Given the description of an element on the screen output the (x, y) to click on. 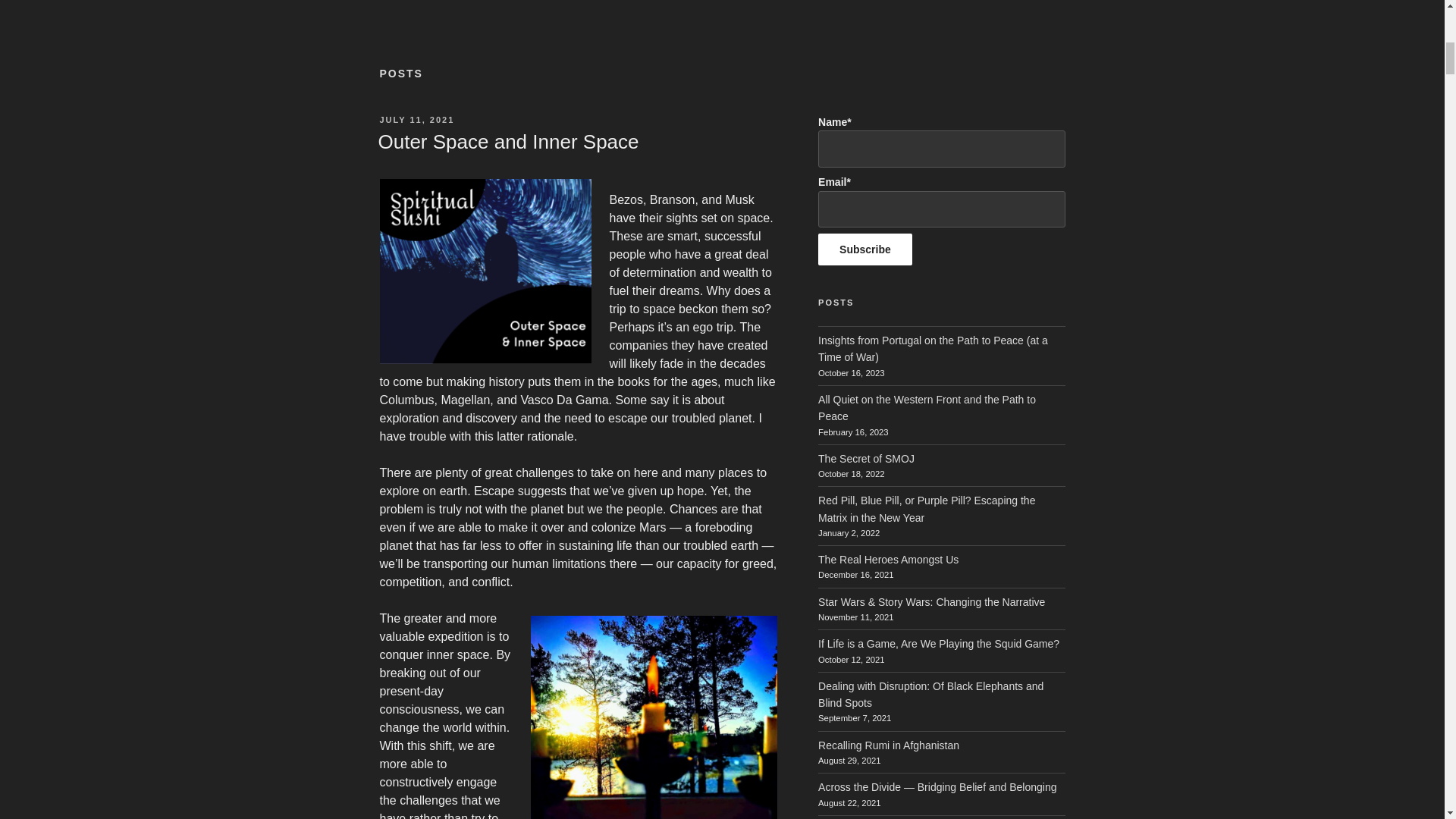
Outer Space and Inner Space (508, 141)
JULY 11, 2021 (416, 119)
Subscribe (865, 249)
